Given the description of an element on the screen output the (x, y) to click on. 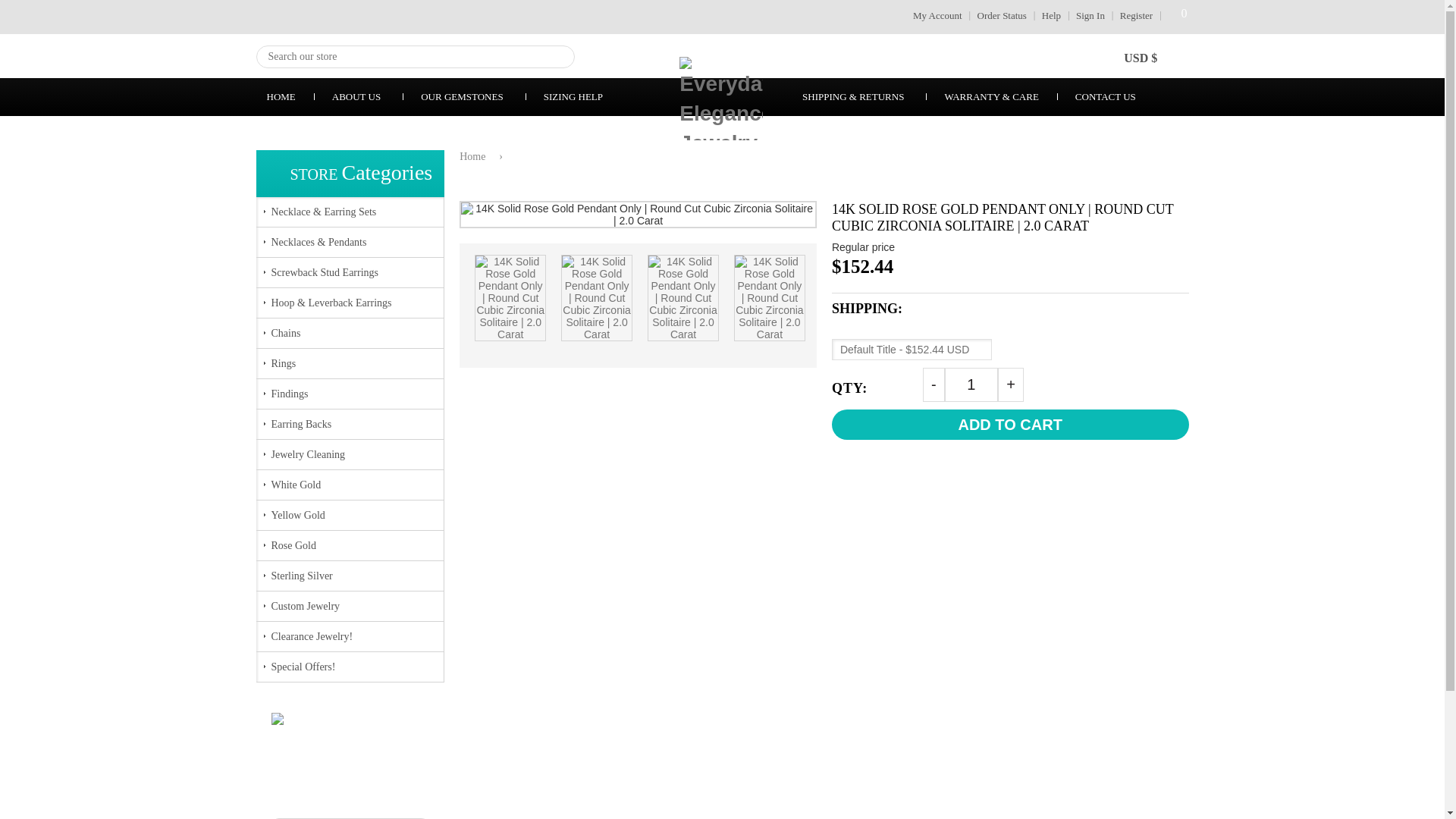
Back to the home page (1174, 15)
My Account (475, 155)
Order Status (937, 15)
1 (1001, 15)
Register (971, 384)
Sign In (1136, 15)
Help (1090, 15)
